Given the description of an element on the screen output the (x, y) to click on. 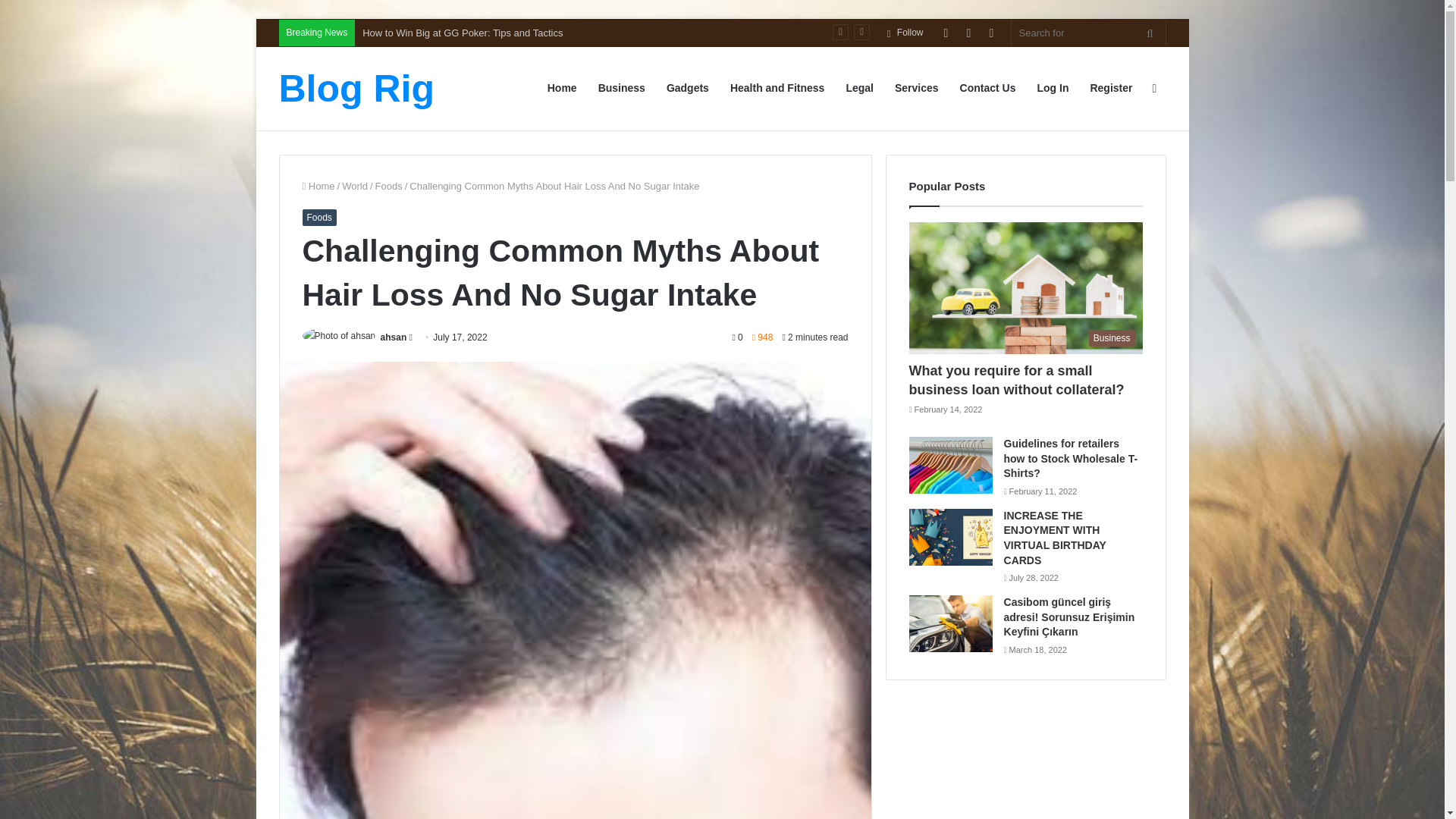
Sidebar (1154, 87)
Contact Us (987, 87)
Search for (1149, 32)
Sidebar (991, 32)
Follow (905, 32)
Blog Rig (357, 88)
Foods (389, 185)
Health and Fitness (776, 87)
Log In (945, 32)
Blog Rig (357, 88)
Random Article (967, 32)
Log In (1052, 87)
Gadgets (687, 87)
